Given the description of an element on the screen output the (x, y) to click on. 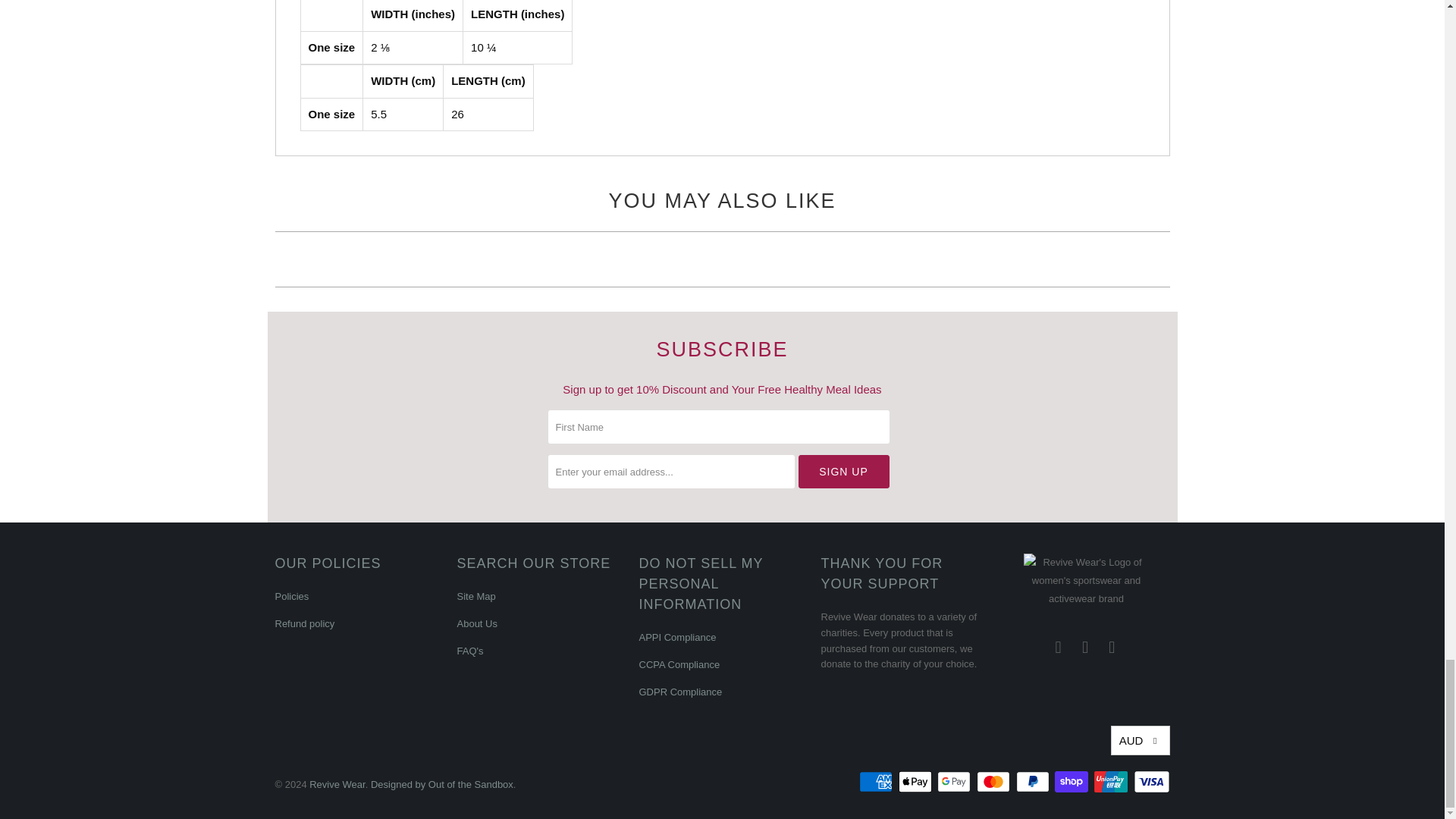
Google Pay (955, 781)
Apple Pay (916, 781)
PayPal (1034, 781)
Union Pay (1112, 781)
American Express (877, 781)
Visa (1150, 781)
Sign Up (842, 471)
Shop Pay (1072, 781)
Mastercard (994, 781)
